Given the description of an element on the screen output the (x, y) to click on. 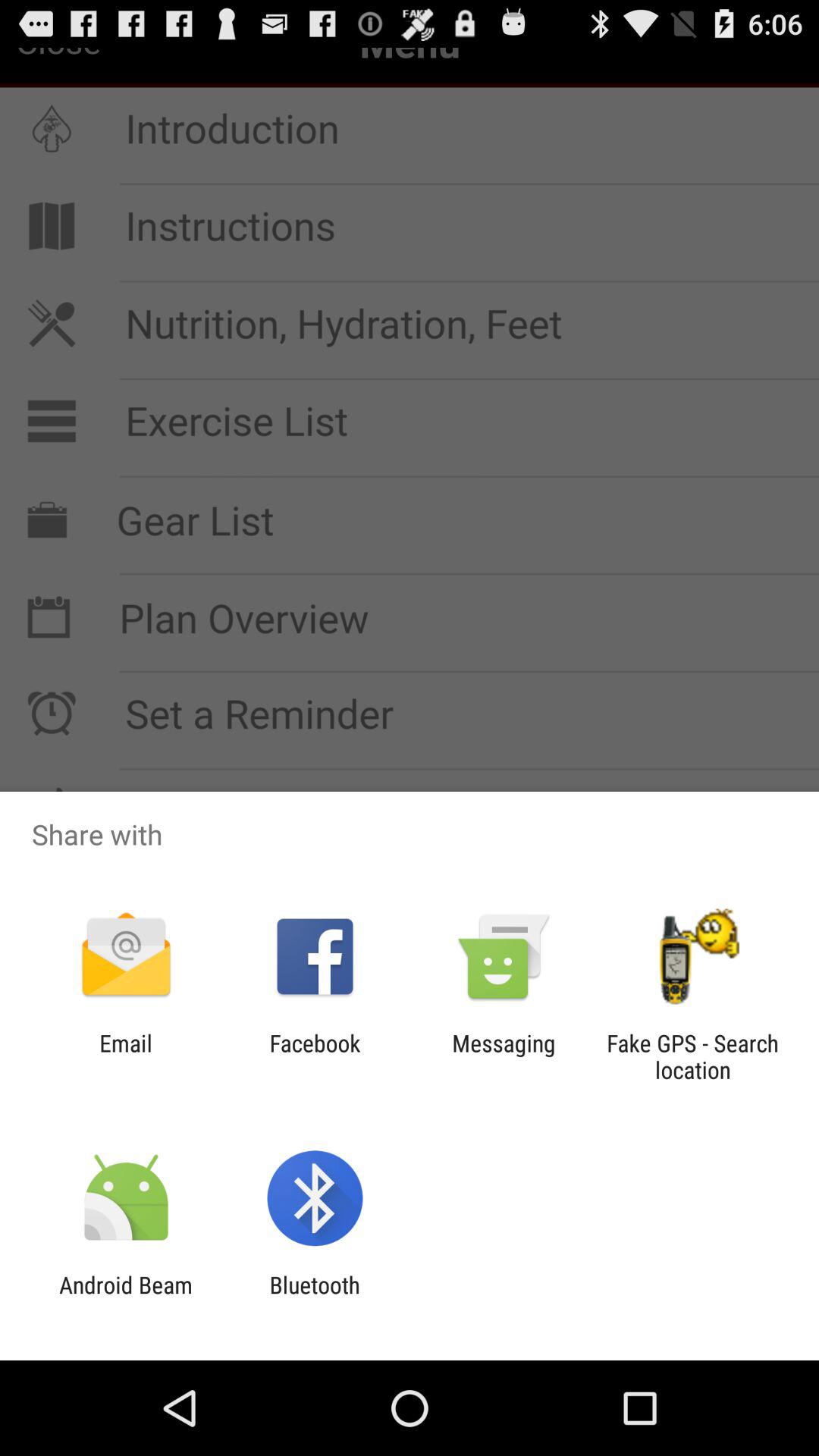
click the app to the left of messaging app (314, 1056)
